Given the description of an element on the screen output the (x, y) to click on. 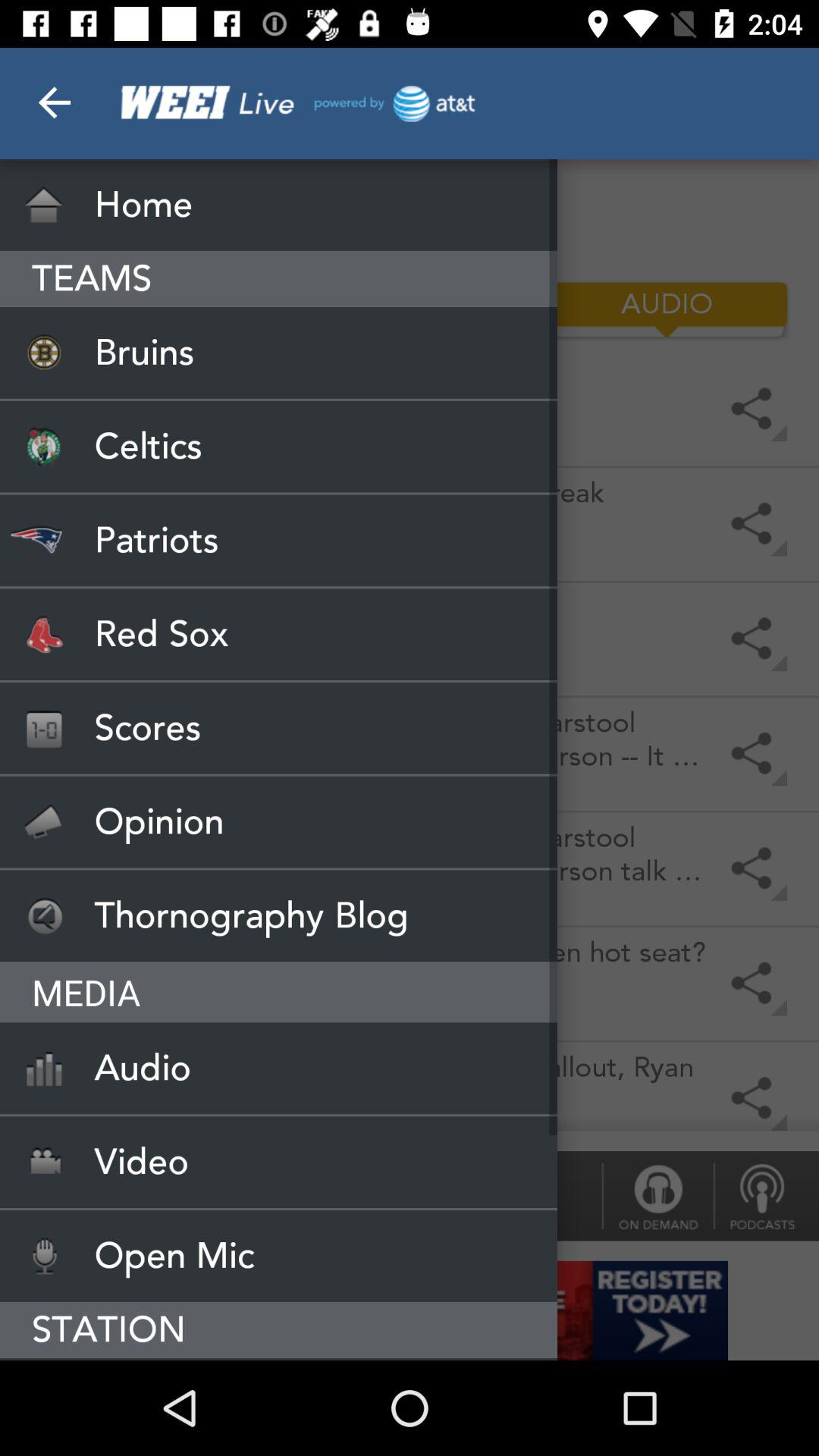
choose item next to the columns item (152, 309)
